Given the description of an element on the screen output the (x, y) to click on. 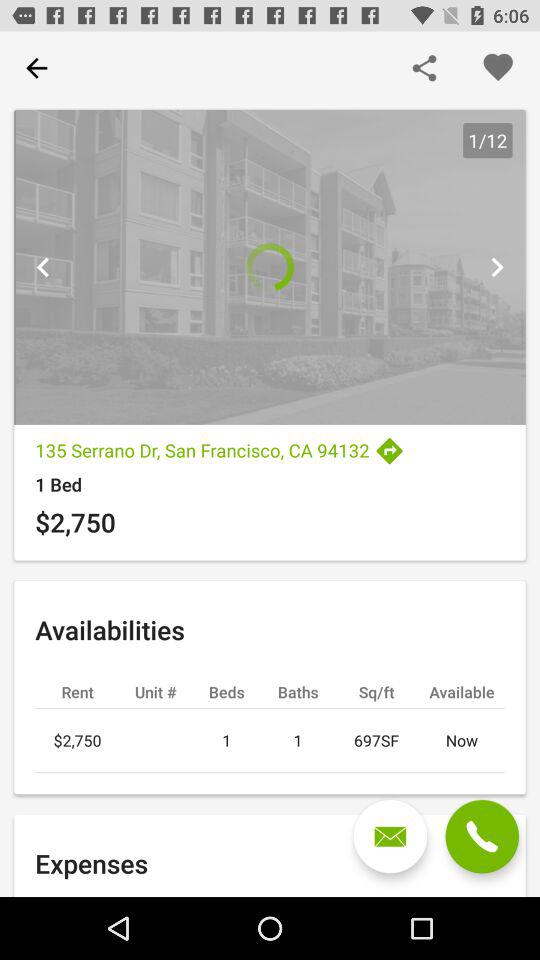
like (497, 68)
